Given the description of an element on the screen output the (x, y) to click on. 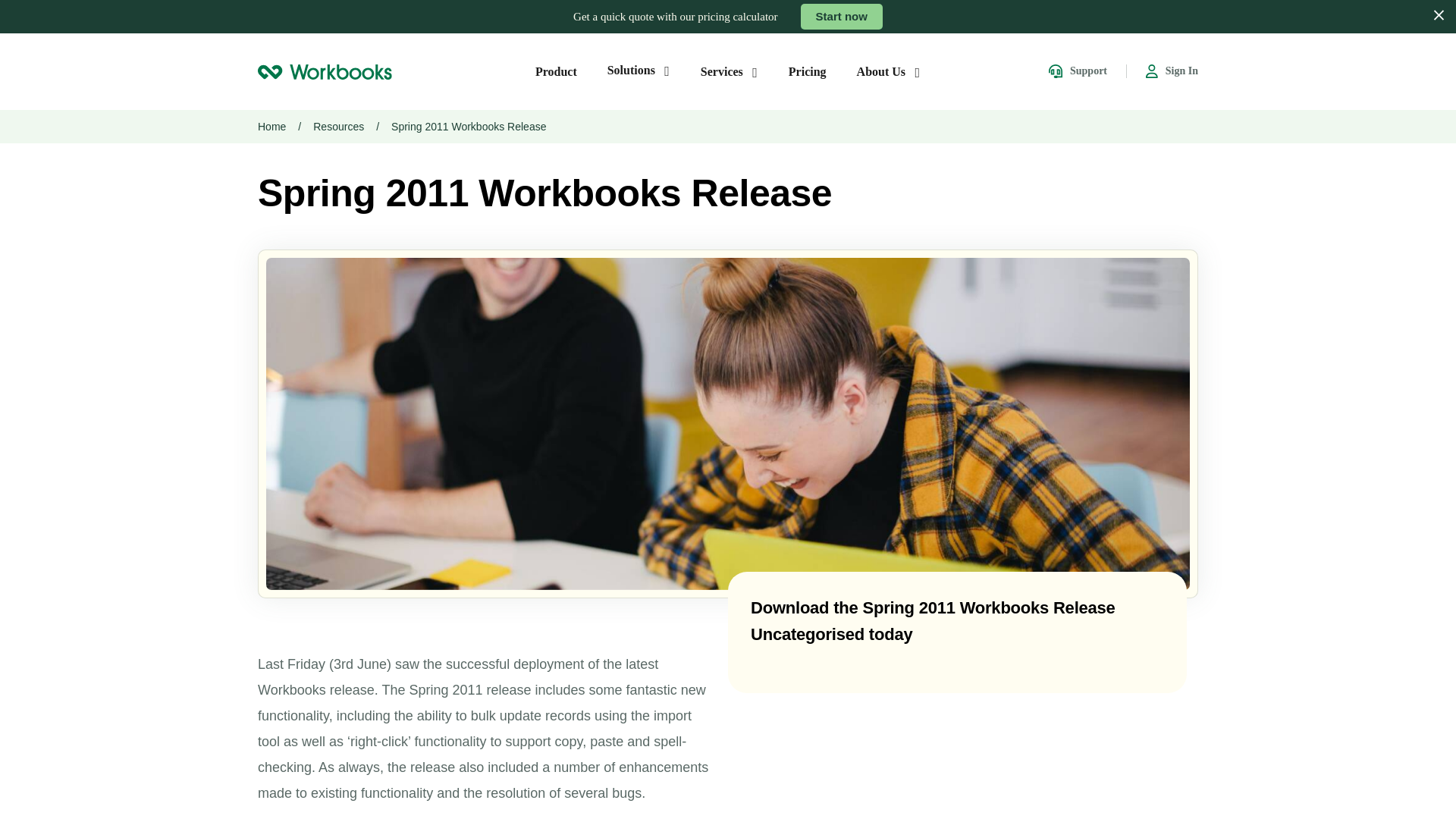
Product (555, 71)
Start now (841, 16)
Pricing (808, 71)
Support (1077, 70)
About Us (888, 71)
Sign In (1171, 70)
Solutions (638, 69)
Services (729, 71)
